Given the description of an element on the screen output the (x, y) to click on. 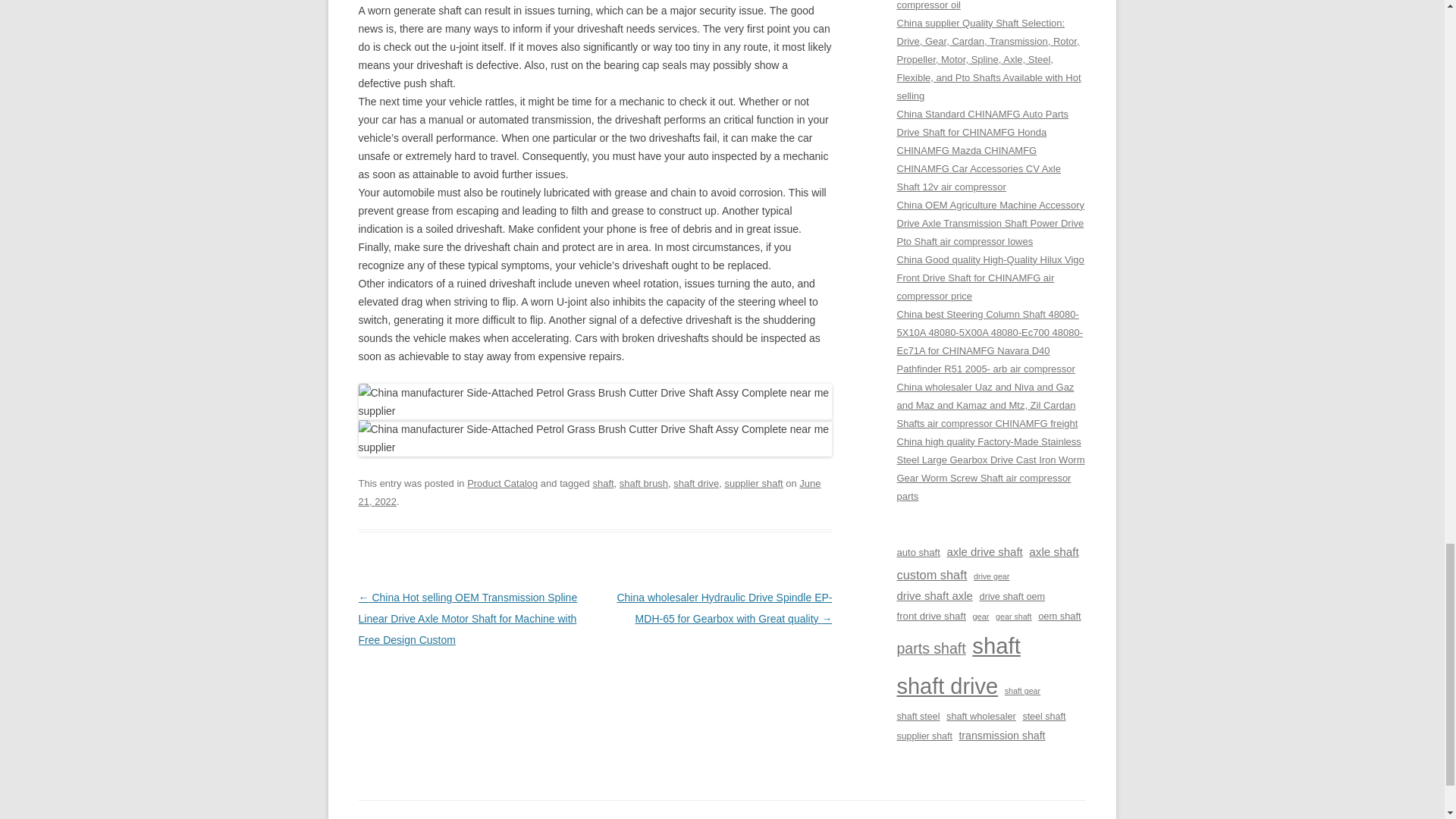
June 21, 2022 (589, 491)
Product Catalog (502, 482)
shaft (602, 482)
supplier shaft (753, 482)
shaft brush (644, 482)
shaft drive (695, 482)
9:11 pm (589, 491)
